Given the description of an element on the screen output the (x, y) to click on. 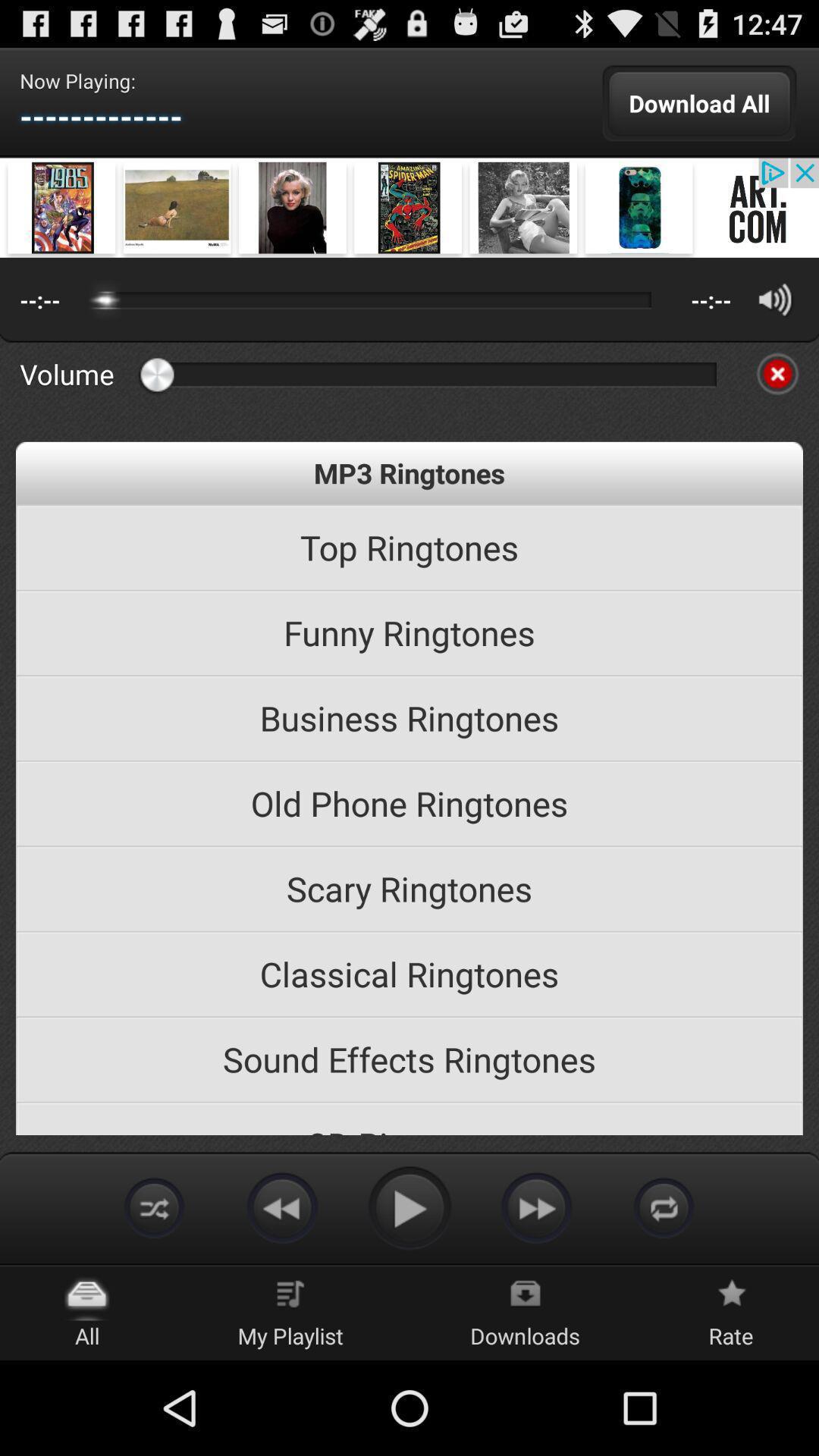
play option (409, 1207)
